Given the description of an element on the screen output the (x, y) to click on. 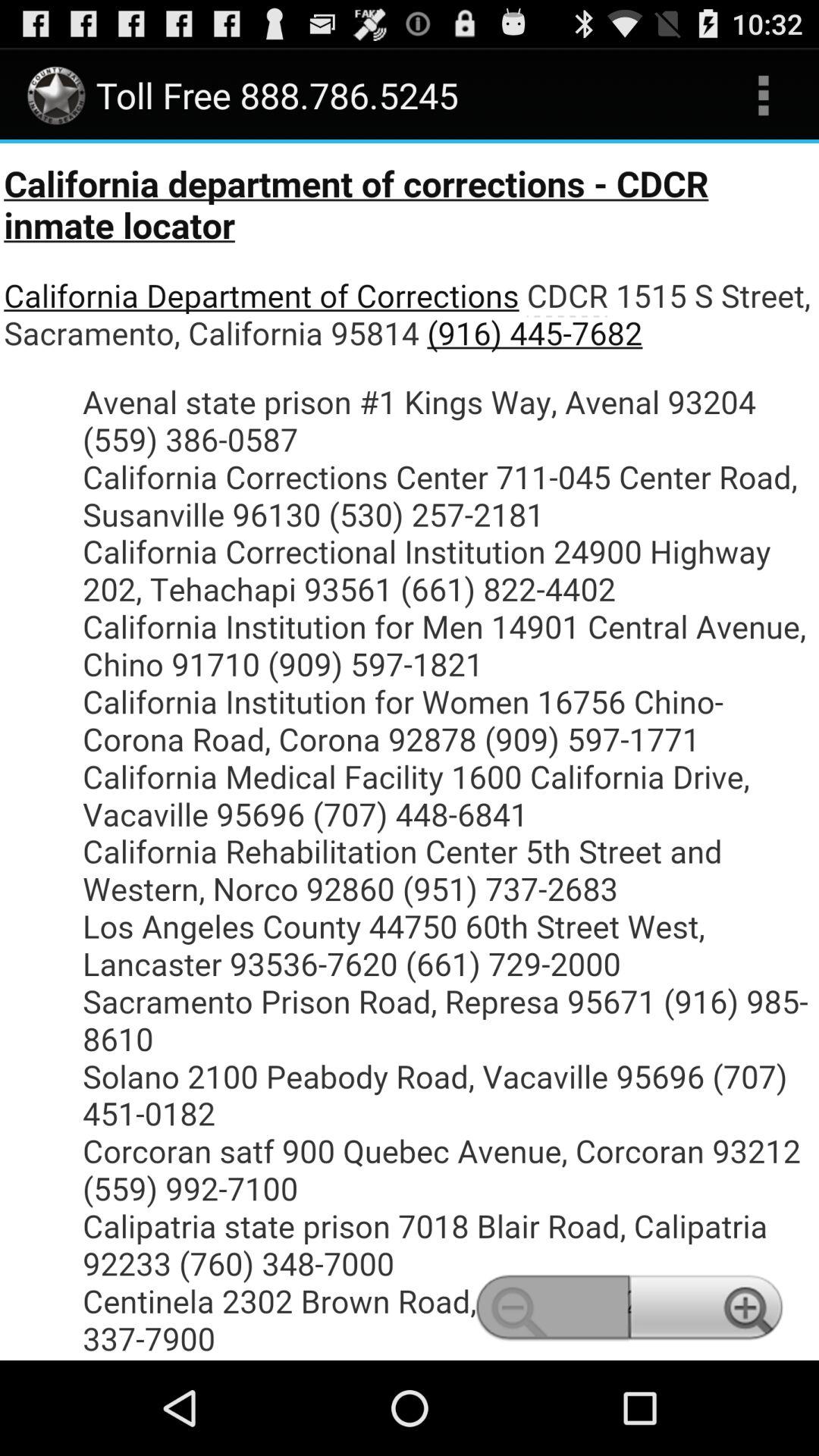
webpage view (409, 751)
